Given the description of an element on the screen output the (x, y) to click on. 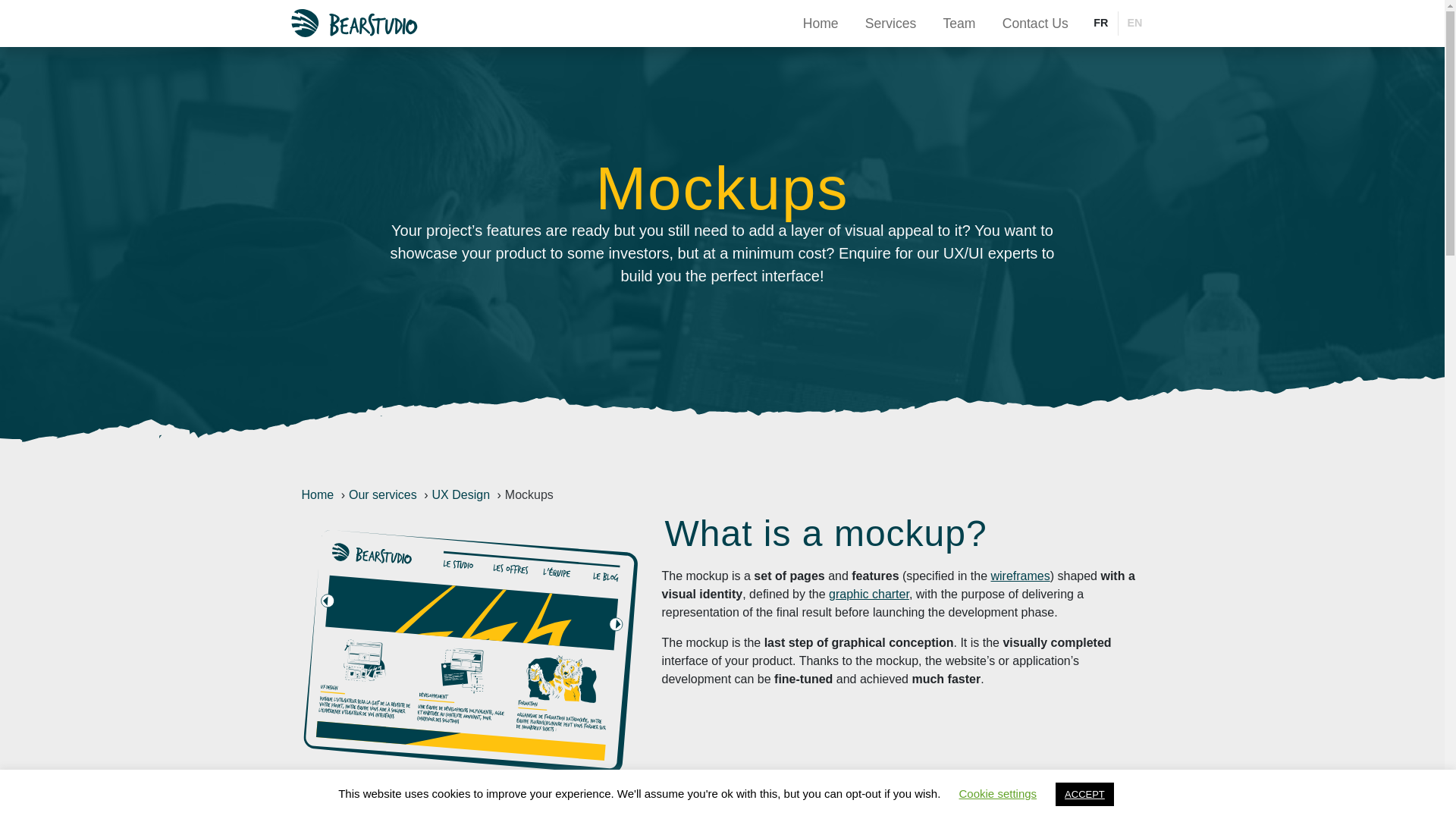
ACCEPT (1084, 793)
Cookie settings (997, 793)
Services (890, 23)
Our services (382, 494)
Home (820, 23)
EN (1134, 23)
Team (959, 23)
UX Design (460, 494)
FR (1100, 23)
wireframes (1019, 575)
graphic charter (868, 594)
English (1134, 23)
Contact Us (1034, 23)
Home (317, 494)
